Given the description of an element on the screen output the (x, y) to click on. 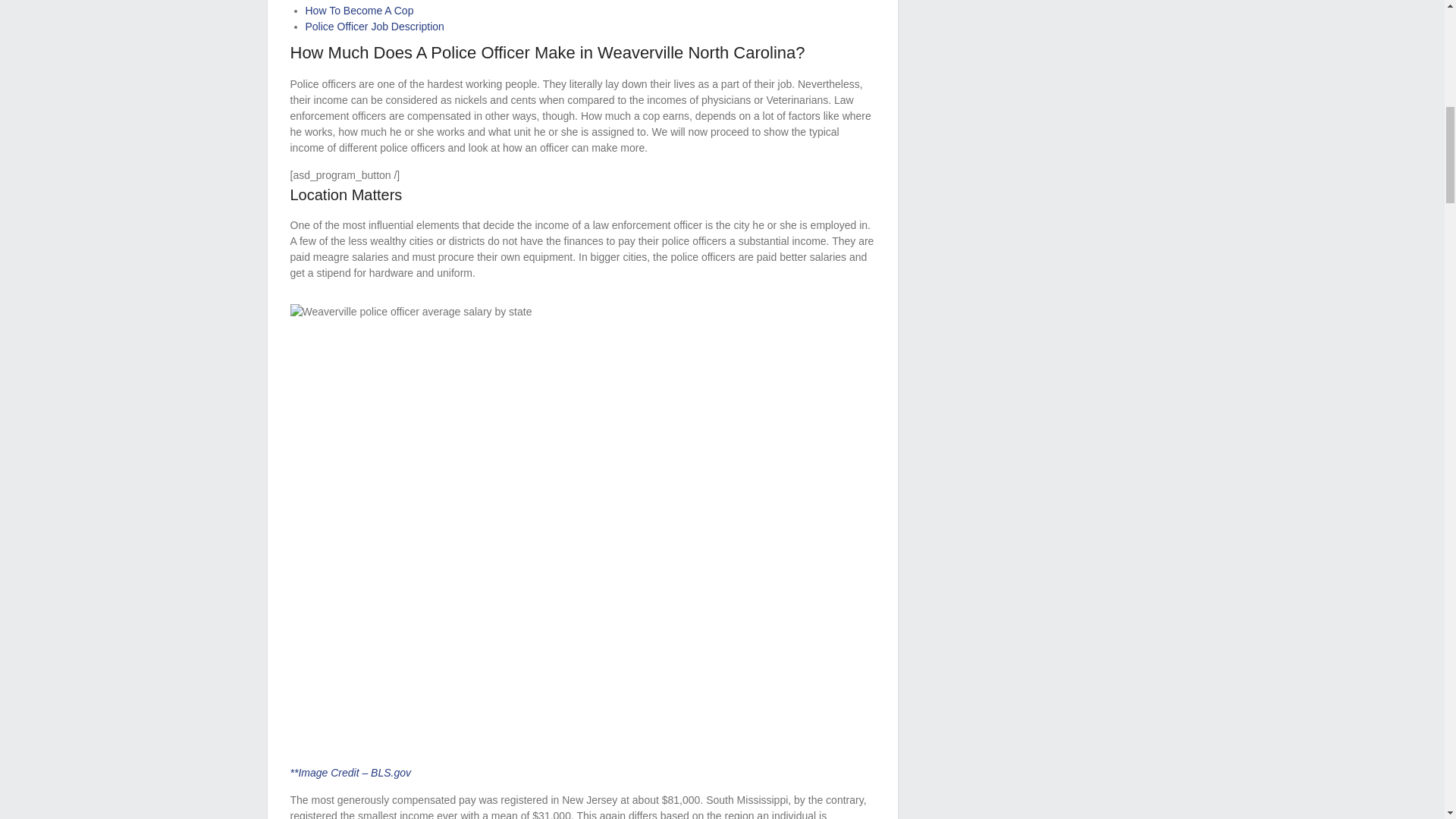
How To Become A Cop (358, 10)
Police Officer Job Description (374, 26)
